Given the description of an element on the screen output the (x, y) to click on. 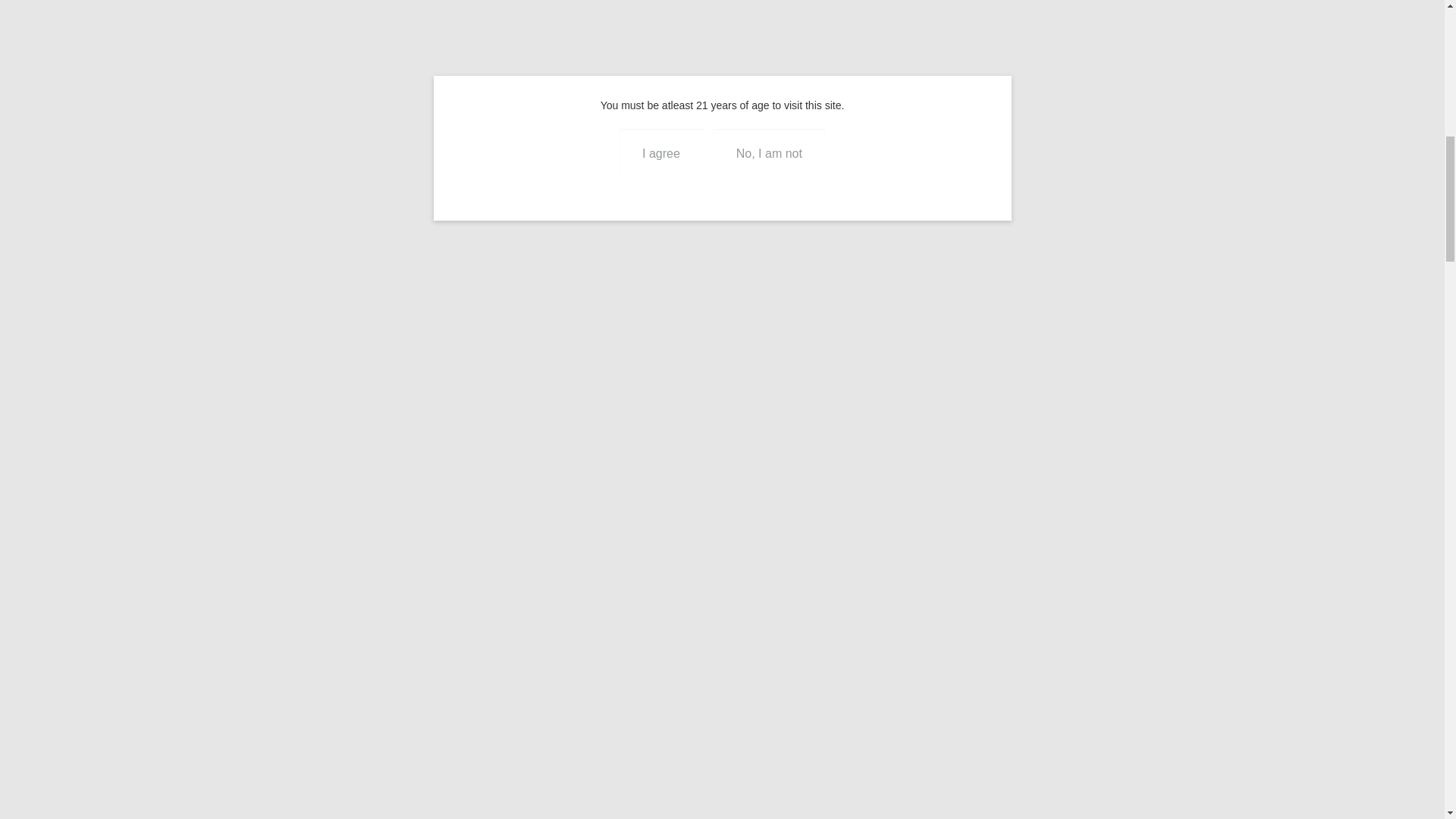
December 28, 2021 (711, 79)
Lisa Colando (594, 79)
Dosing (871, 78)
Cannabis (825, 78)
